Given the description of an element on the screen output the (x, y) to click on. 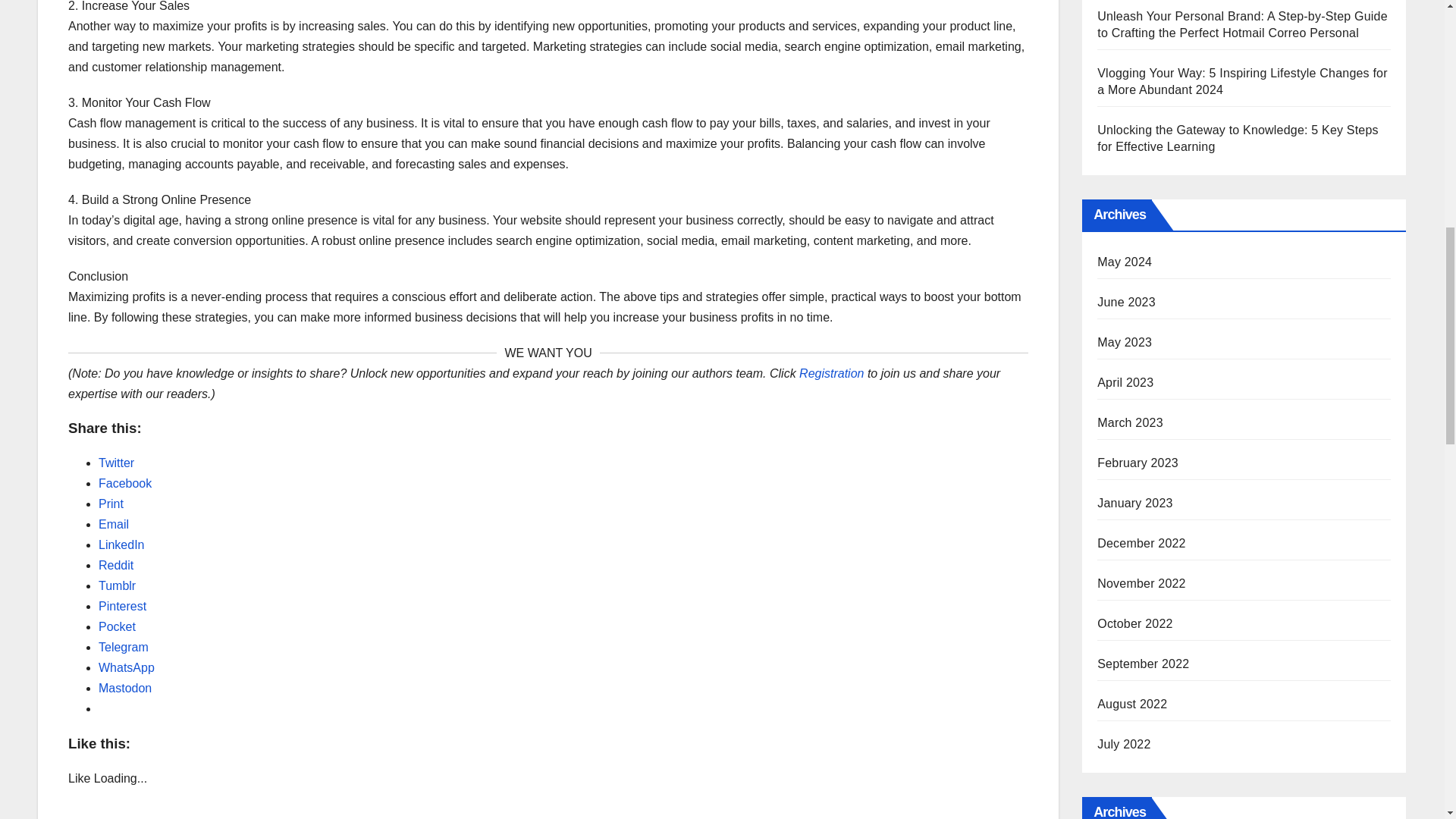
Reddit (116, 564)
Twitter (116, 462)
Print (111, 503)
Click to share on Reddit (116, 564)
Click to share on Twitter (116, 462)
Tumblr (117, 585)
Email (114, 523)
Facebook (125, 482)
Click to share on Facebook (125, 482)
Click to share on LinkedIn (121, 544)
